Given the description of an element on the screen output the (x, y) to click on. 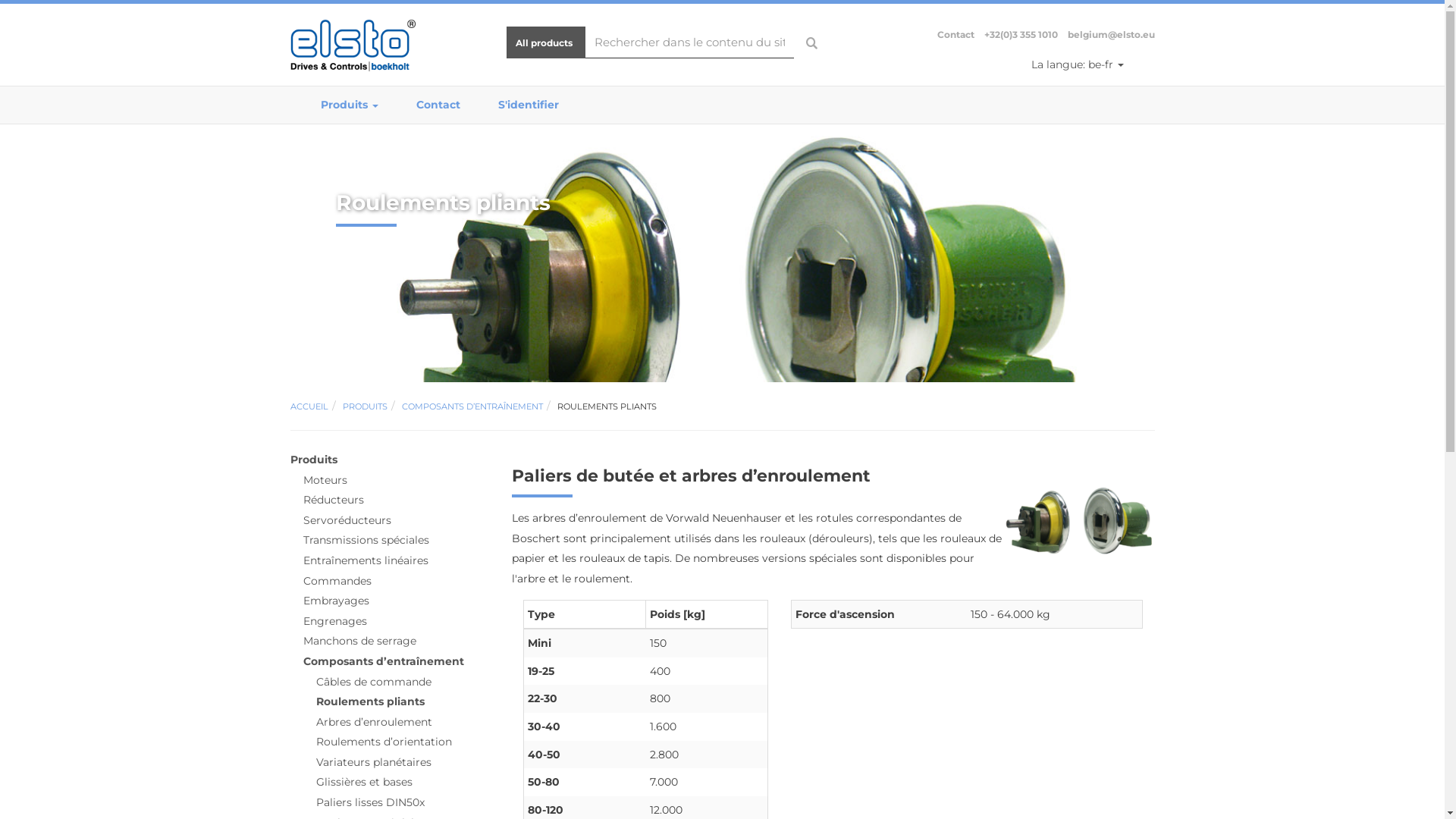
ROULEMENTS PLIANTS Element type: text (605, 406)
Produits Element type: text (312, 459)
La langue: be-fr Element type: text (1077, 64)
Roulements pliants Element type: text (369, 701)
Manchons de serrage Element type: text (359, 640)
Moteurs Element type: text (325, 479)
ACCUEIL Element type: text (308, 406)
Commandes Element type: text (337, 580)
Produits Element type: text (349, 105)
belgium@elsto.eu Element type: text (1110, 34)
Engrenages Element type: text (335, 620)
Paliers lisses DIN50x Element type: text (369, 802)
PRODUITS Element type: text (364, 406)
Contact Element type: text (438, 105)
S'identifier Element type: text (528, 105)
+32(0)3 355 1010 Element type: text (1020, 34)
Embrayages Element type: text (336, 600)
